Given the description of an element on the screen output the (x, y) to click on. 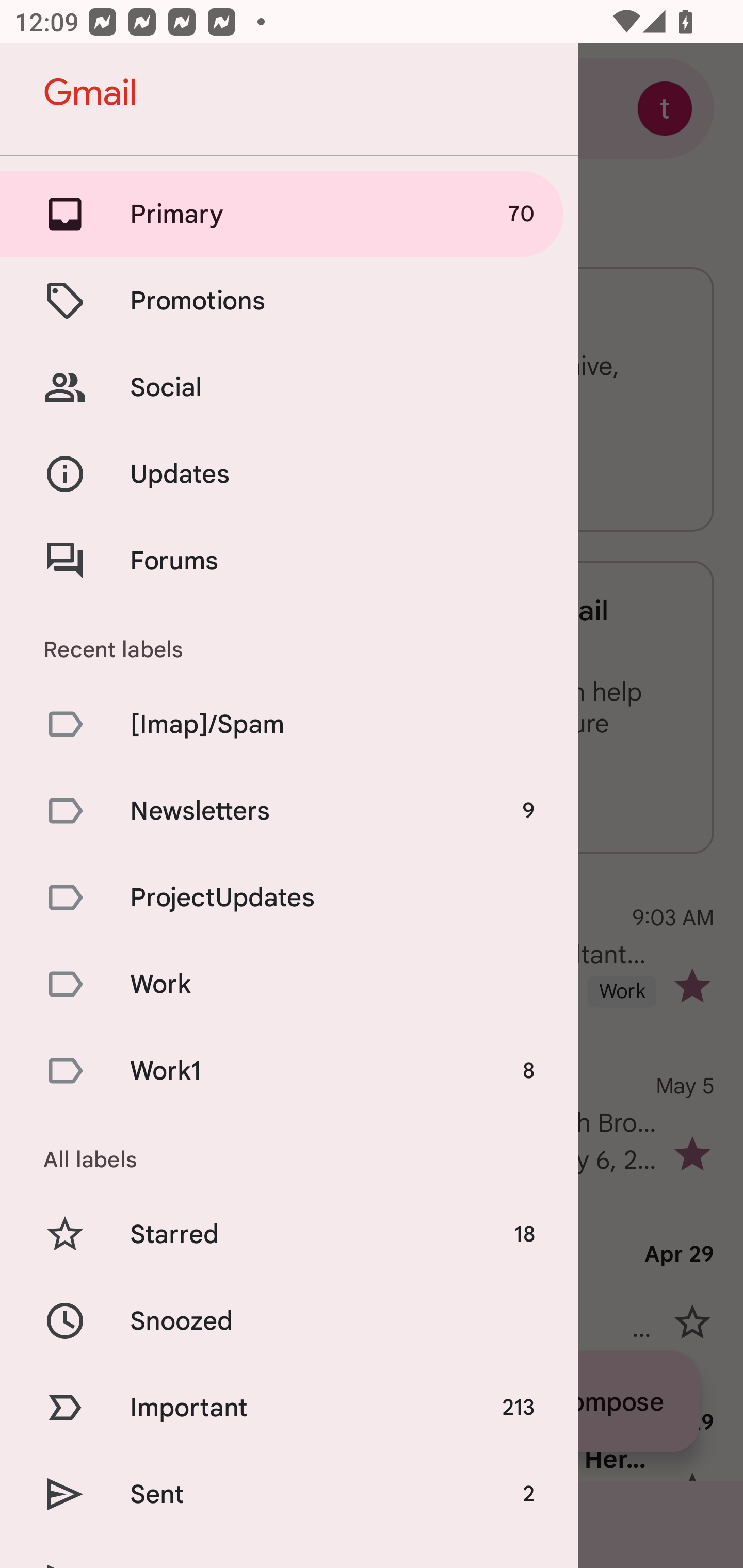
Primary 70 (289, 213)
Promotions (289, 300)
Social (289, 387)
Updates (289, 474)
Forums (289, 560)
[Imap]/Spam (289, 723)
Newsletters 9 (289, 810)
ProjectUpdates (289, 897)
Work (289, 983)
Work1 8 (289, 1070)
Starred 18 (289, 1234)
Snoozed (289, 1320)
Important 213 (289, 1407)
Sent 2 (289, 1494)
